Given the description of an element on the screen output the (x, y) to click on. 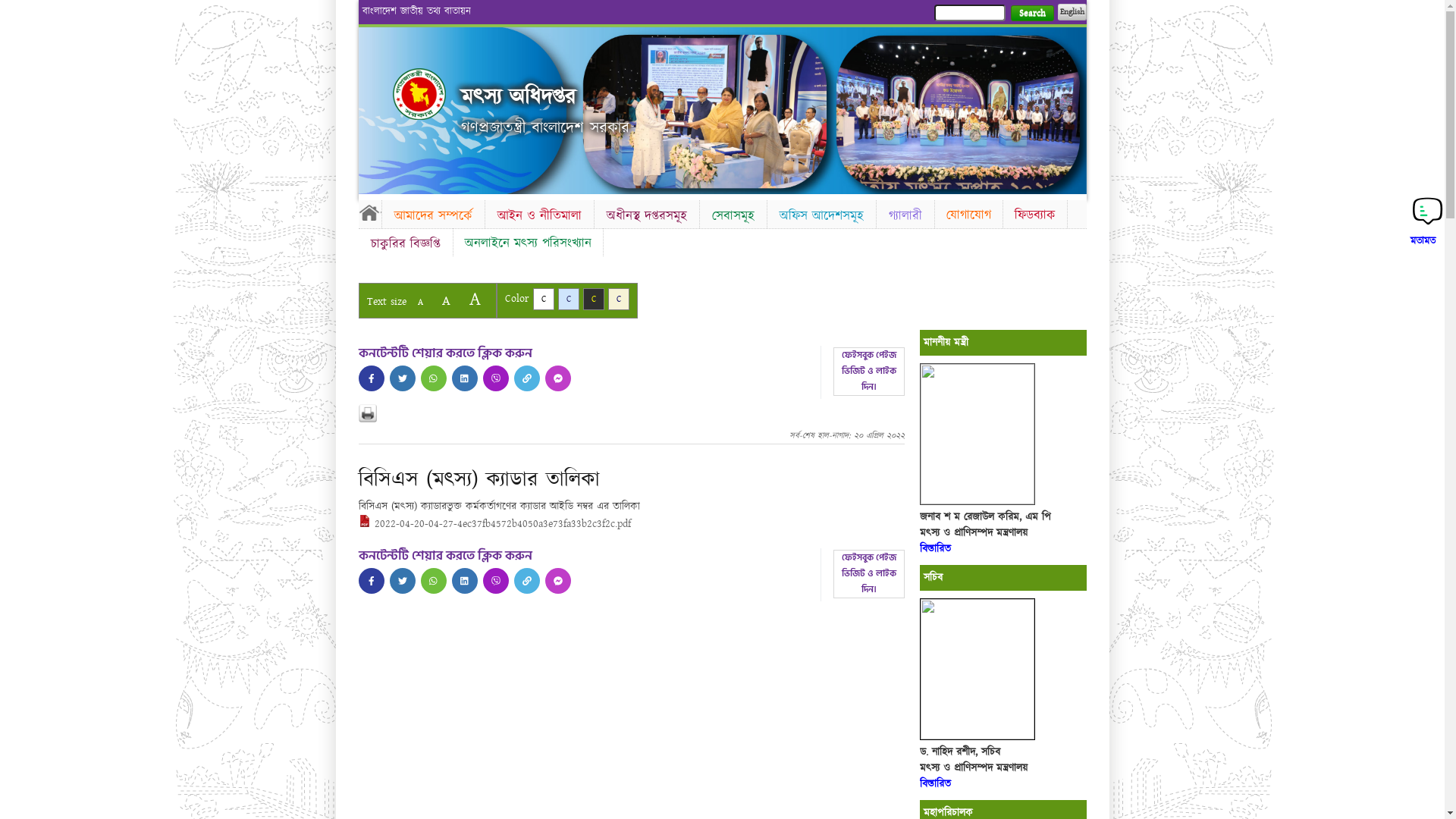
English Element type: text (1071, 11)
C Element type: text (568, 299)
C Element type: text (592, 299)
C Element type: text (542, 299)
Home Element type: hover (368, 211)
C Element type: text (618, 299)
Search Element type: text (1031, 13)
Home Element type: hover (418, 93)
A Element type: text (445, 300)
A Element type: text (474, 298)
A Element type: text (419, 301)
2022-04-20-04-27-4ec37fb4572b4050a3e73fa33b2c3f2c.pdf Element type: text (493, 523)
